Given the description of an element on the screen output the (x, y) to click on. 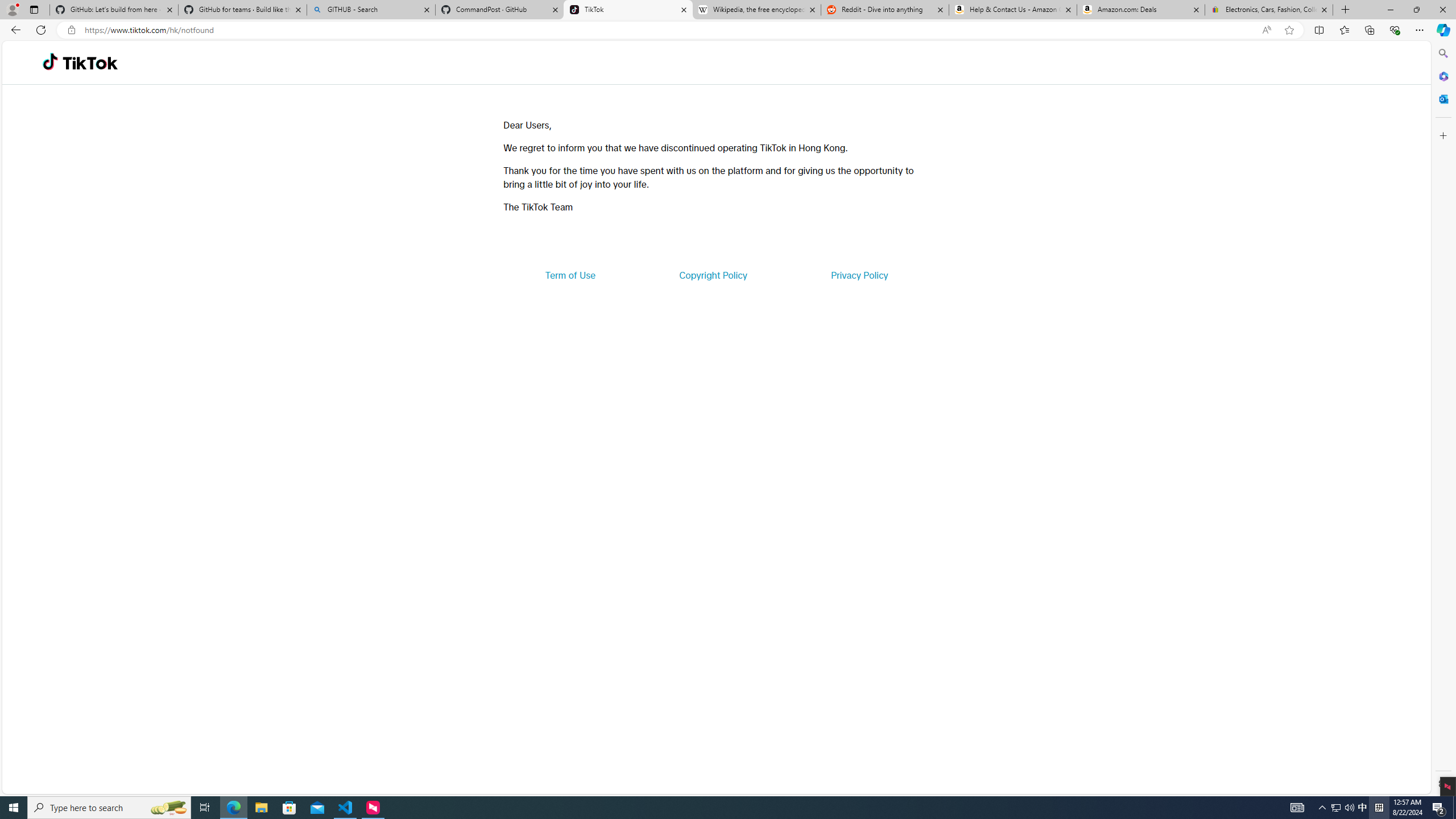
Term of Use (569, 274)
